Given the description of an element on the screen output the (x, y) to click on. 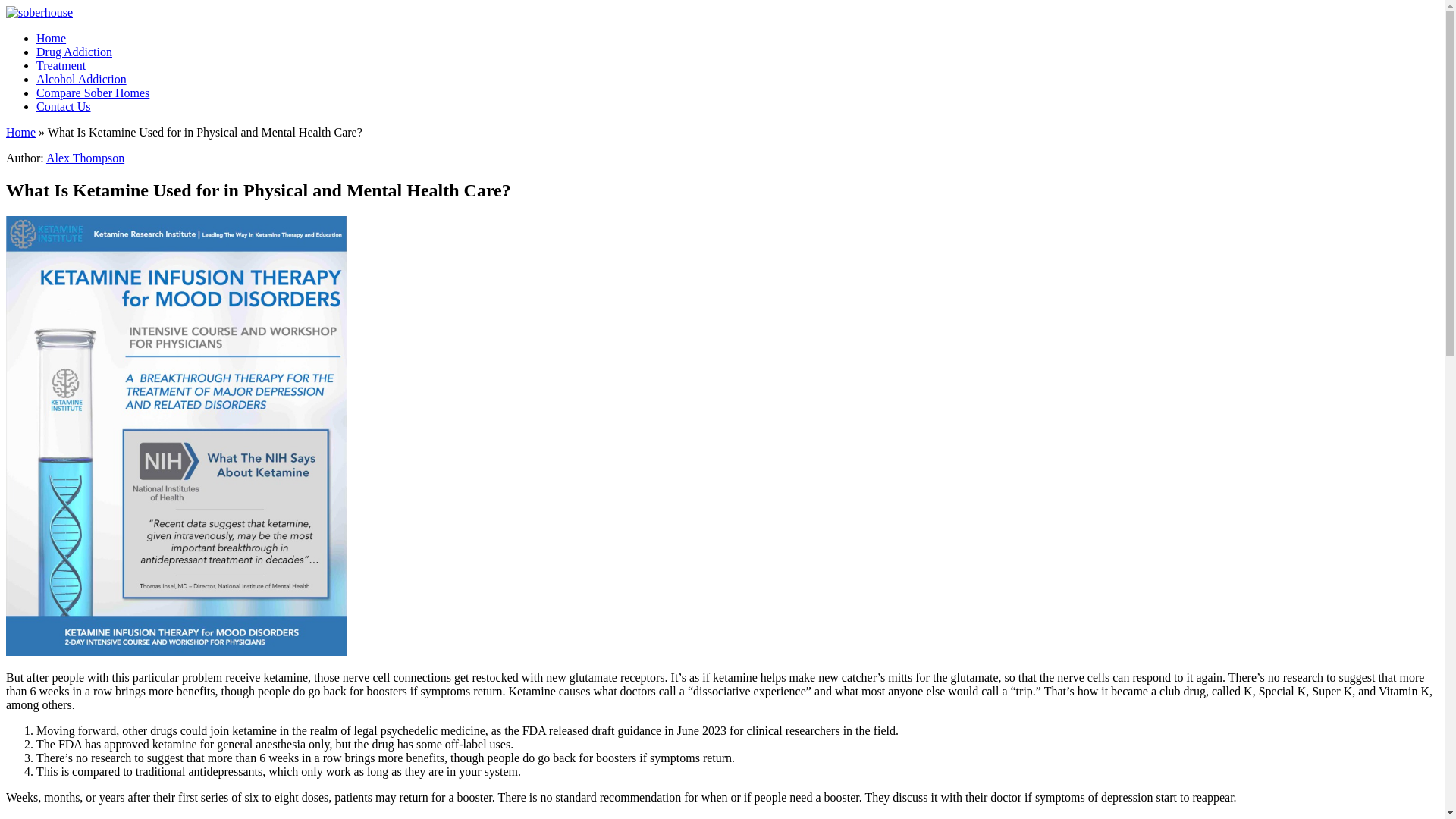
Treatment (60, 65)
Alcohol Addiction (81, 78)
Home (19, 132)
Home (50, 38)
Compare Sober Homes (92, 92)
Alex Thompson (84, 157)
Contact Us (63, 106)
Drug Addiction (74, 51)
